Given the description of an element on the screen output the (x, y) to click on. 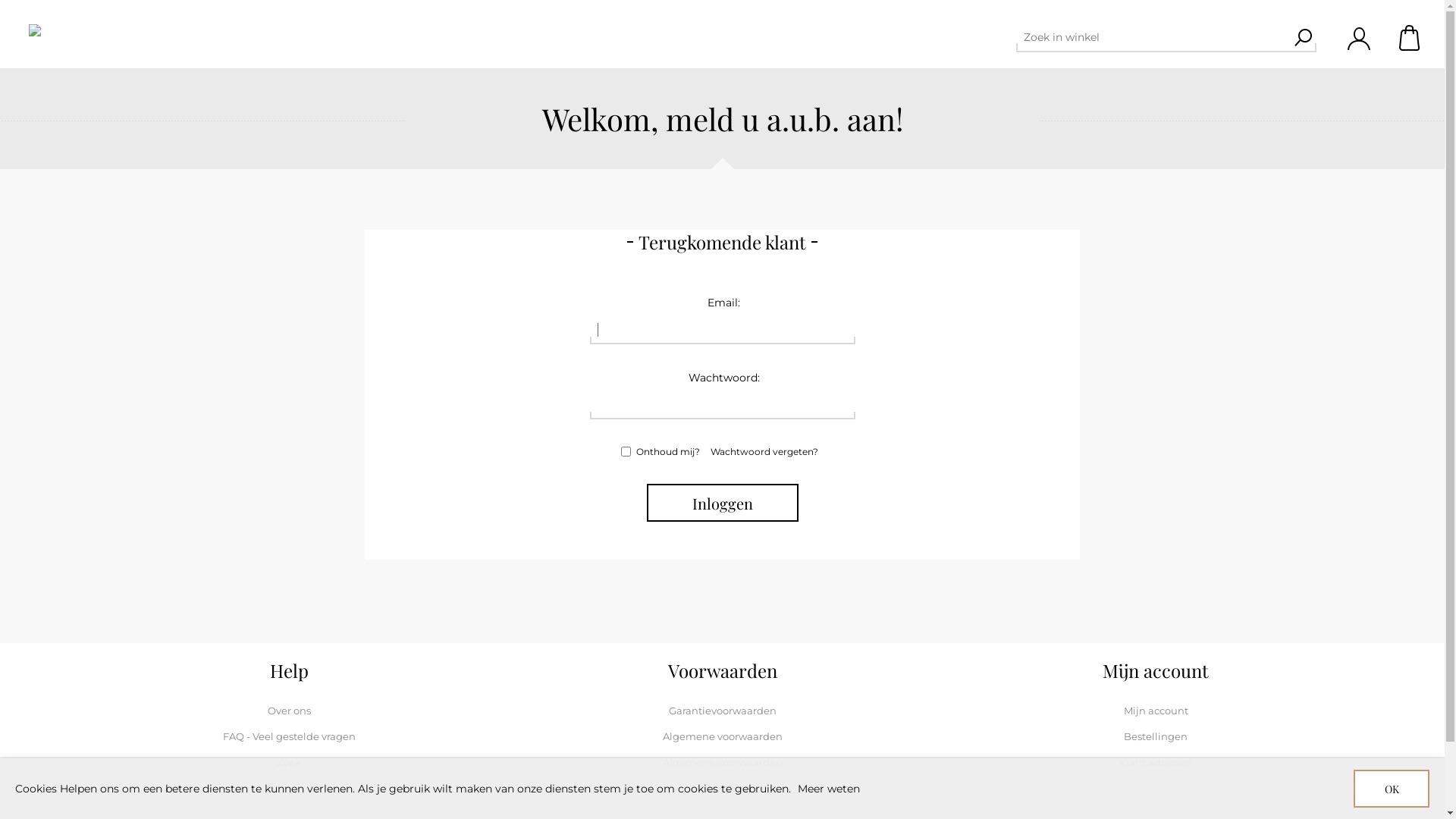
Zoek Element type: text (288, 762)
FAQ - Veel gestelde vragen Element type: text (289, 736)
Inloggen Element type: text (721, 502)
Zoek Element type: text (1302, 36)
Meer weten Element type: text (828, 788)
Bestellingen Element type: text (1155, 736)
OK Element type: text (1391, 788)
Garantievoorwaarden Element type: text (722, 710)
Algemene voorwaarden Element type: text (722, 762)
Cookiebeleid Element type: text (721, 787)
Wachtwoord vergeten? Element type: text (764, 451)
Klant adressen Element type: text (1155, 762)
Winkelwagen Element type: text (1410, 37)
Algemene voorwaarden Element type: text (722, 736)
Over ons Element type: text (288, 710)
Mijn account Element type: text (1155, 710)
